Given the description of an element on the screen output the (x, y) to click on. 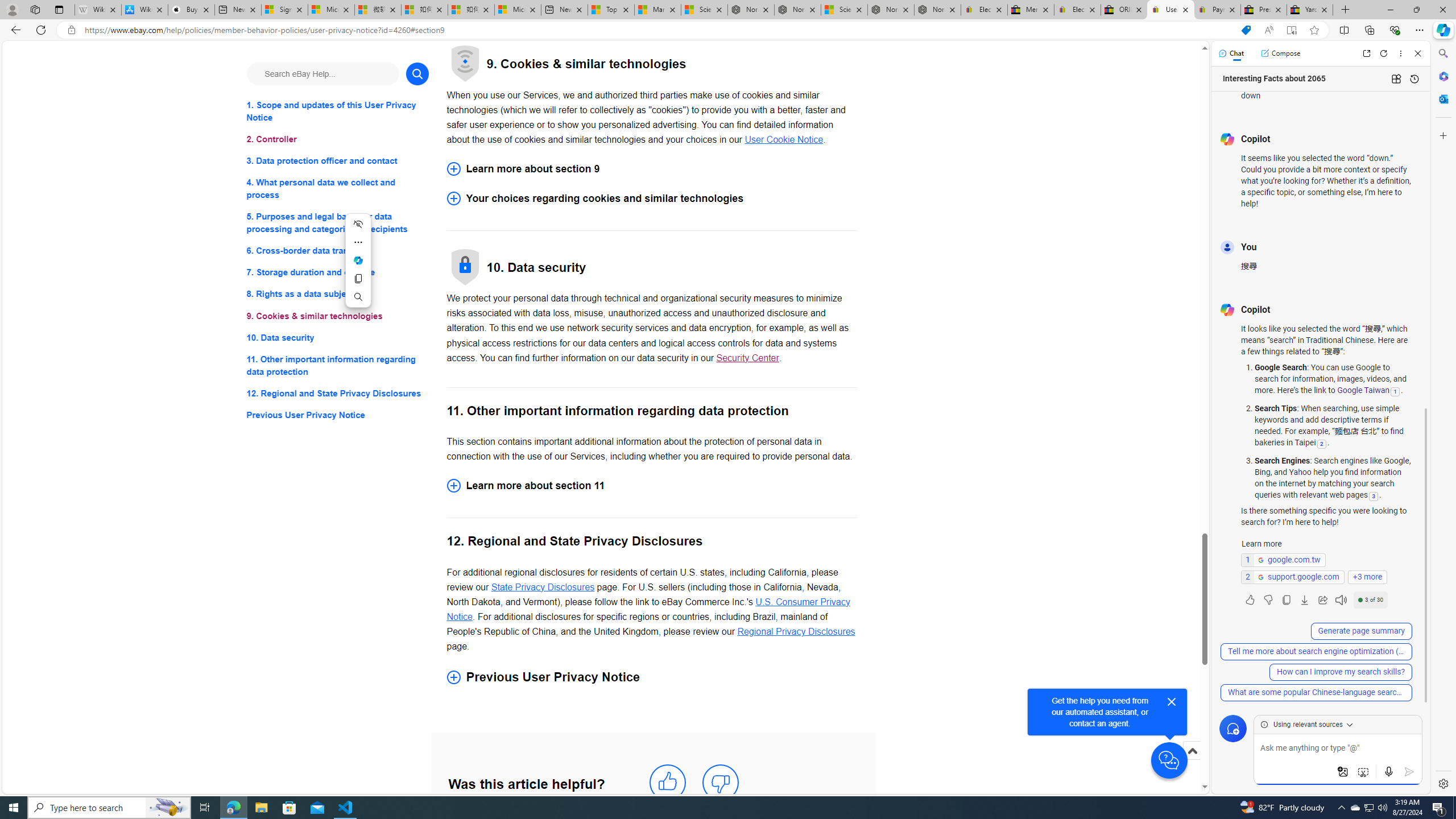
mark this article not helpful (720, 782)
Press Room - eBay Inc. (1263, 9)
Nordace - Summer Adventures 2024 (890, 9)
Learn more about section 9 (651, 168)
Scroll to top (1191, 762)
Learn more about section 11 (651, 485)
2. Controller (337, 138)
